Given the description of an element on the screen output the (x, y) to click on. 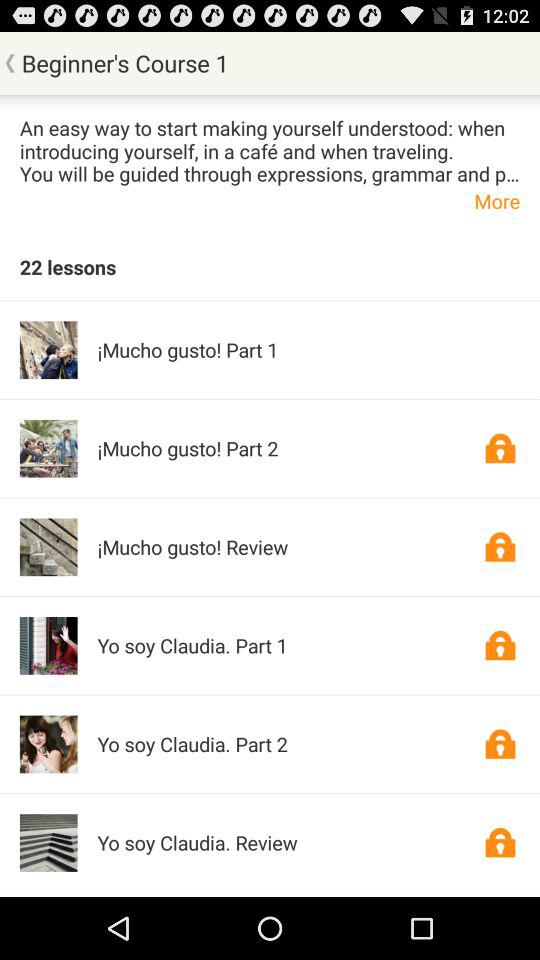
select icon below the beginner s course app (269, 150)
